Given the description of an element on the screen output the (x, y) to click on. 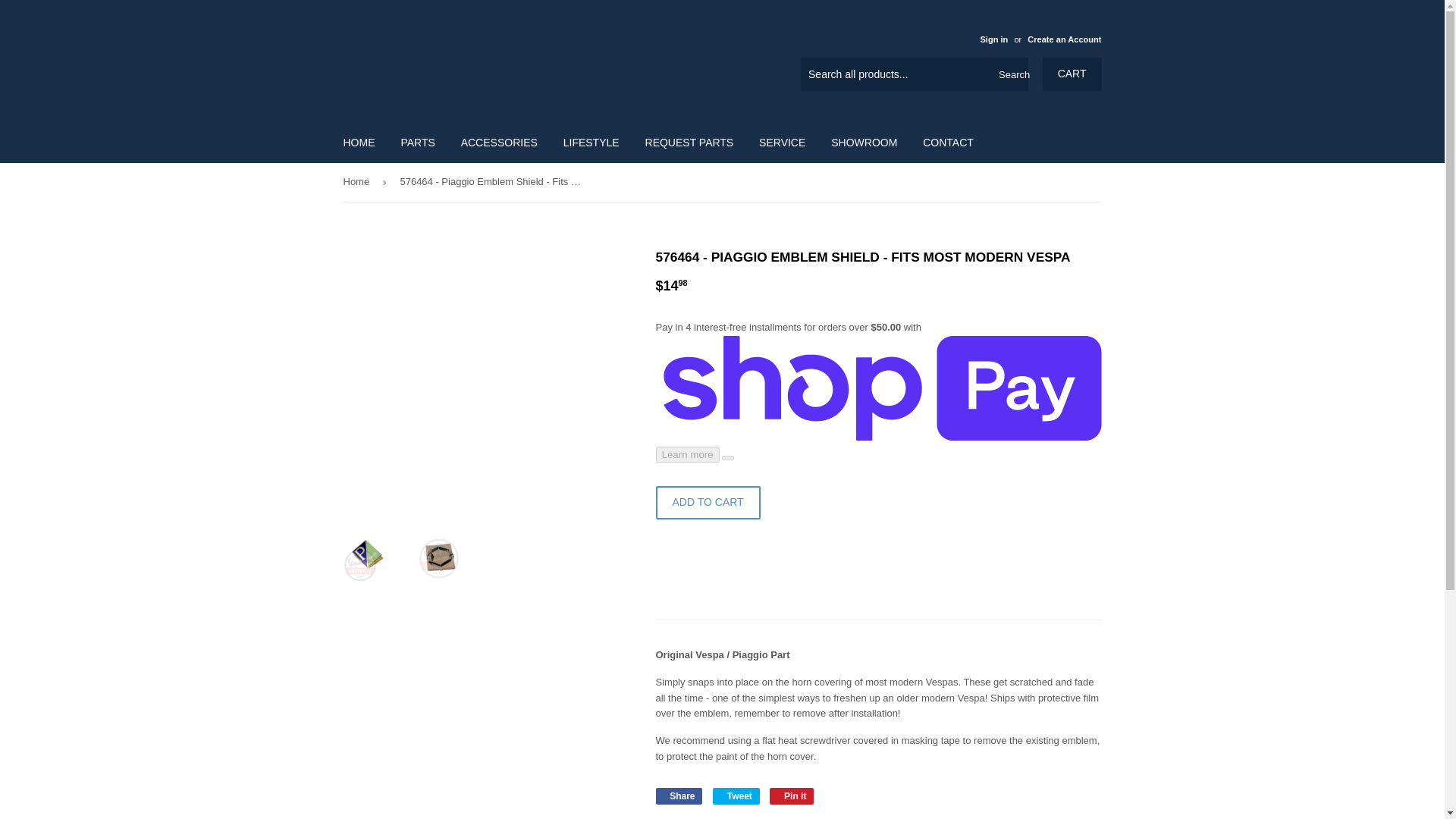
Share on Facebook (678, 795)
Create an Account (1063, 39)
Search (1010, 74)
Tweet on Twitter (736, 795)
Pin on Pinterest (791, 795)
CART (1072, 73)
Sign in (993, 39)
